Given the description of an element on the screen output the (x, y) to click on. 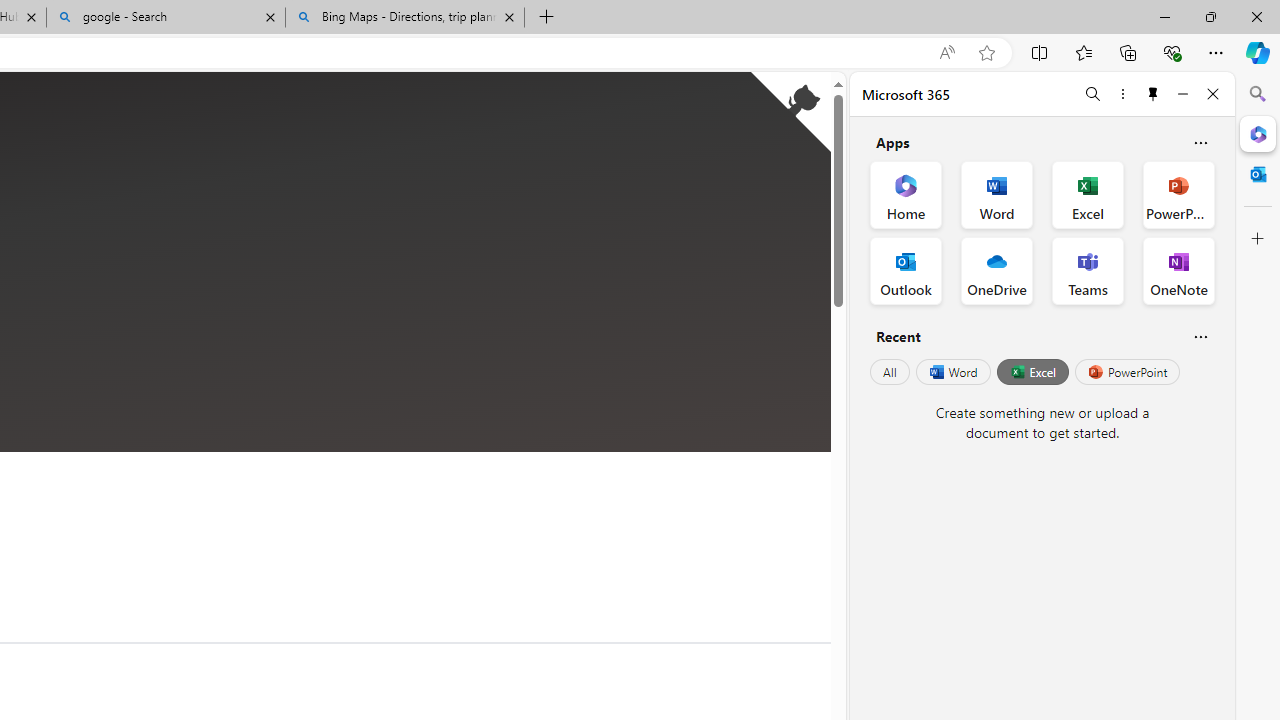
PowerPoint (1127, 372)
Teams Office App (1087, 270)
Is this helpful? (1200, 336)
Excel Office App (1087, 194)
